Given the description of an element on the screen output the (x, y) to click on. 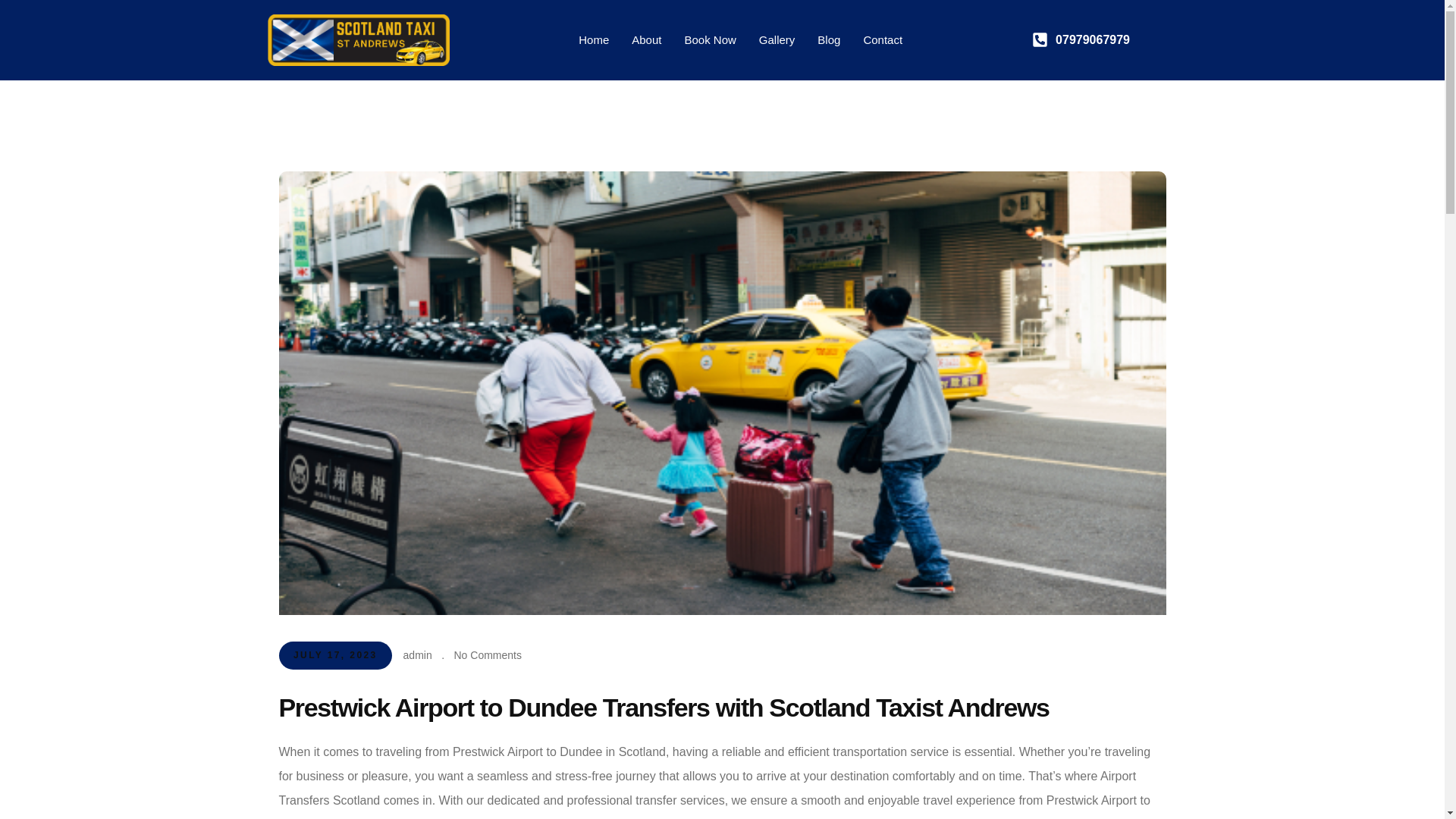
Home (593, 39)
No Comments (486, 655)
Book Now (709, 39)
Contact (882, 39)
About (646, 39)
admin (417, 655)
JULY 17, 2023 (336, 655)
Gallery (777, 39)
Blog (828, 39)
07979067979 (1104, 40)
